Given the description of an element on the screen output the (x, y) to click on. 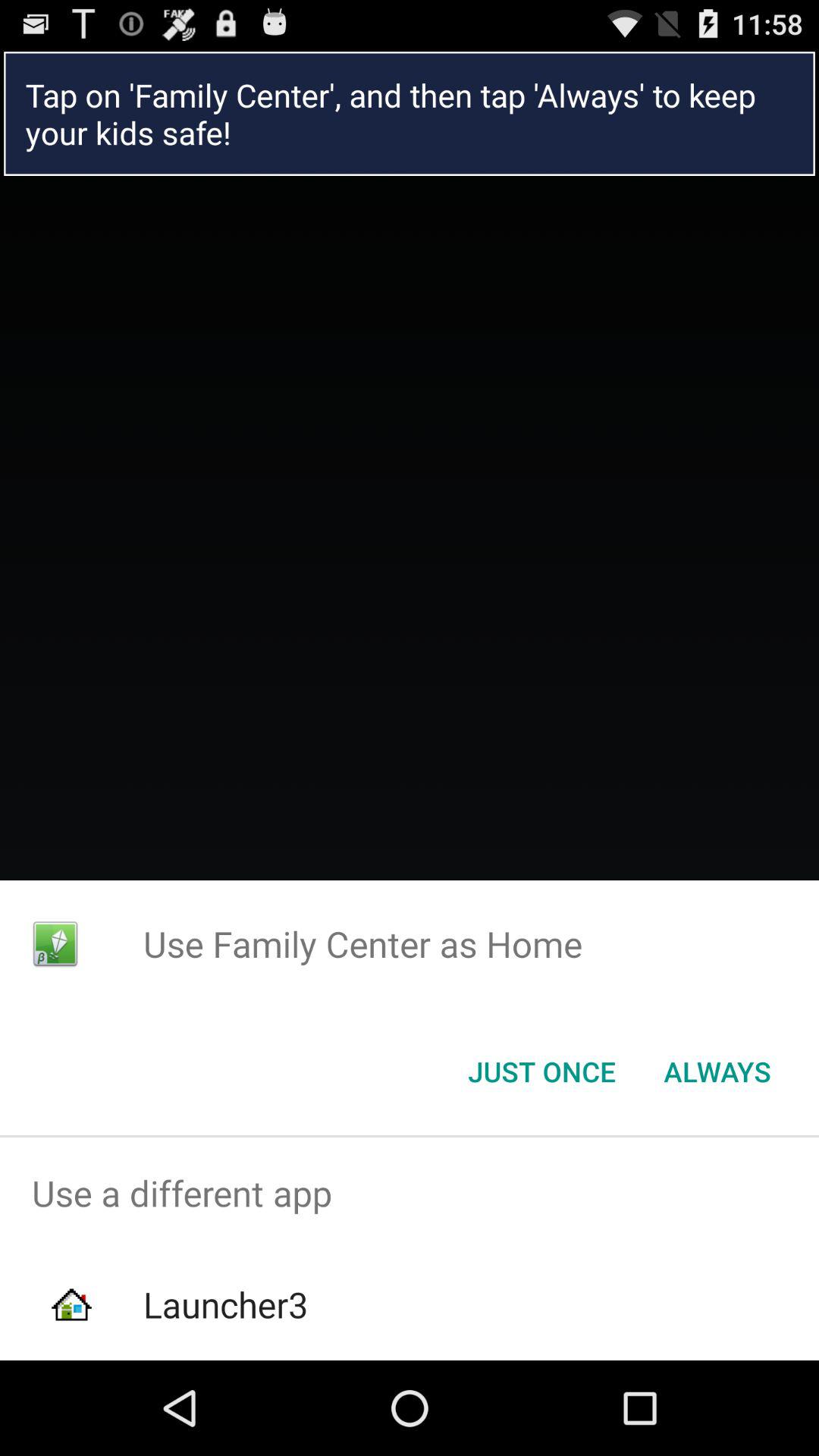
turn off icon above launcher3 app (409, 1192)
